Given the description of an element on the screen output the (x, y) to click on. 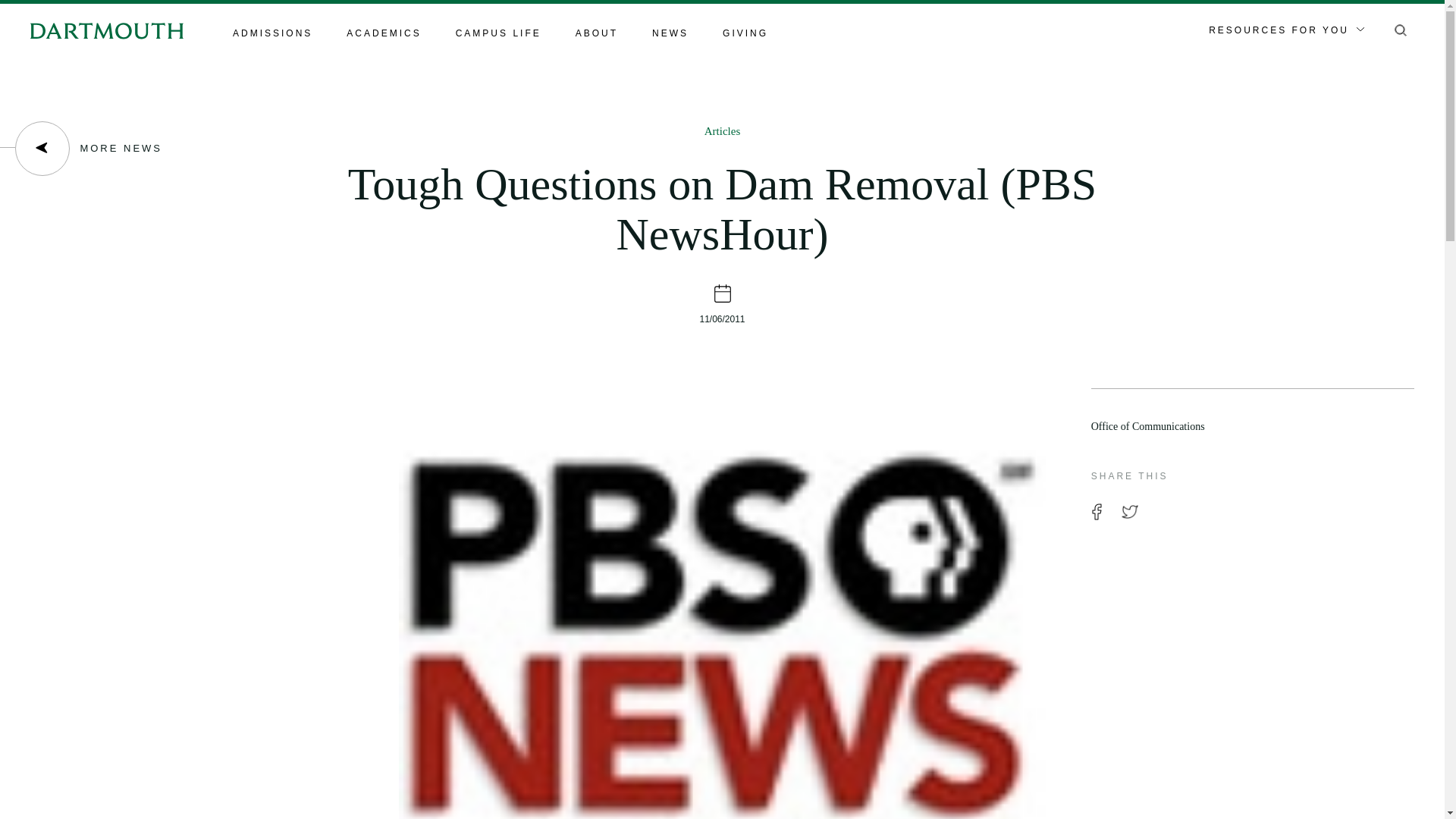
Academics (383, 33)
ACADEMICS (383, 33)
Home (106, 29)
Admissions (272, 33)
ADMISSIONS (272, 33)
Home (106, 29)
ABOUT (596, 33)
CAMPUS LIFE (498, 33)
